Given the description of an element on the screen output the (x, y) to click on. 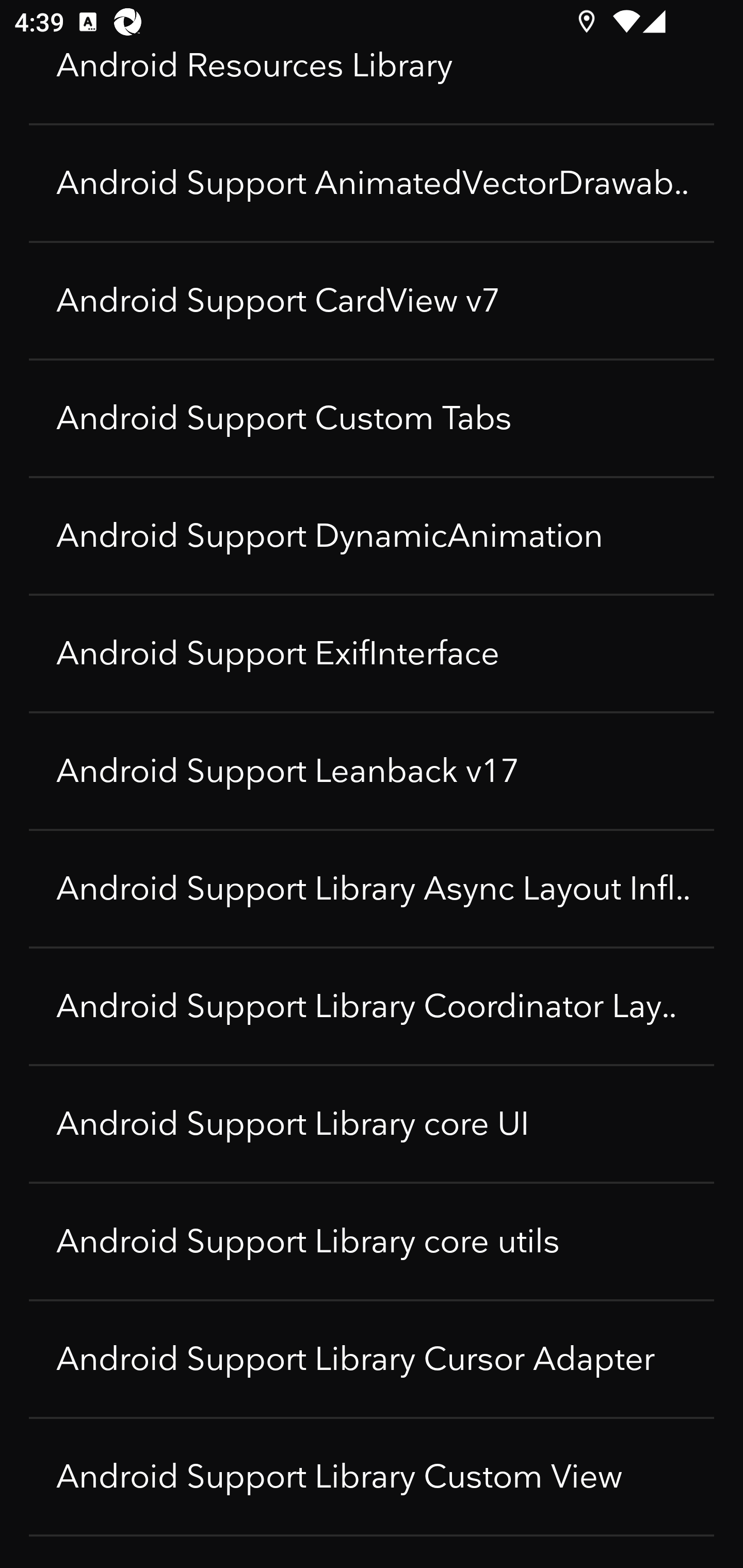
Android Resources Library (371, 83)
Android Support AnimatedVectorDrawable (371, 183)
Android Support CardView v7 (371, 301)
Android Support Custom Tabs (371, 418)
Android Support DynamicAnimation (371, 536)
Android Support ExifInterface (371, 653)
Android Support Leanback v17 (371, 771)
Android Support Library Async Layout Inflater (371, 889)
Android Support Library Coordinator Layout (371, 1006)
Android Support Library core UI (371, 1124)
Android Support Library core utils (371, 1241)
Android Support Library Cursor Adapter (371, 1359)
Android Support Library Custom View (371, 1477)
